Given the description of an element on the screen output the (x, y) to click on. 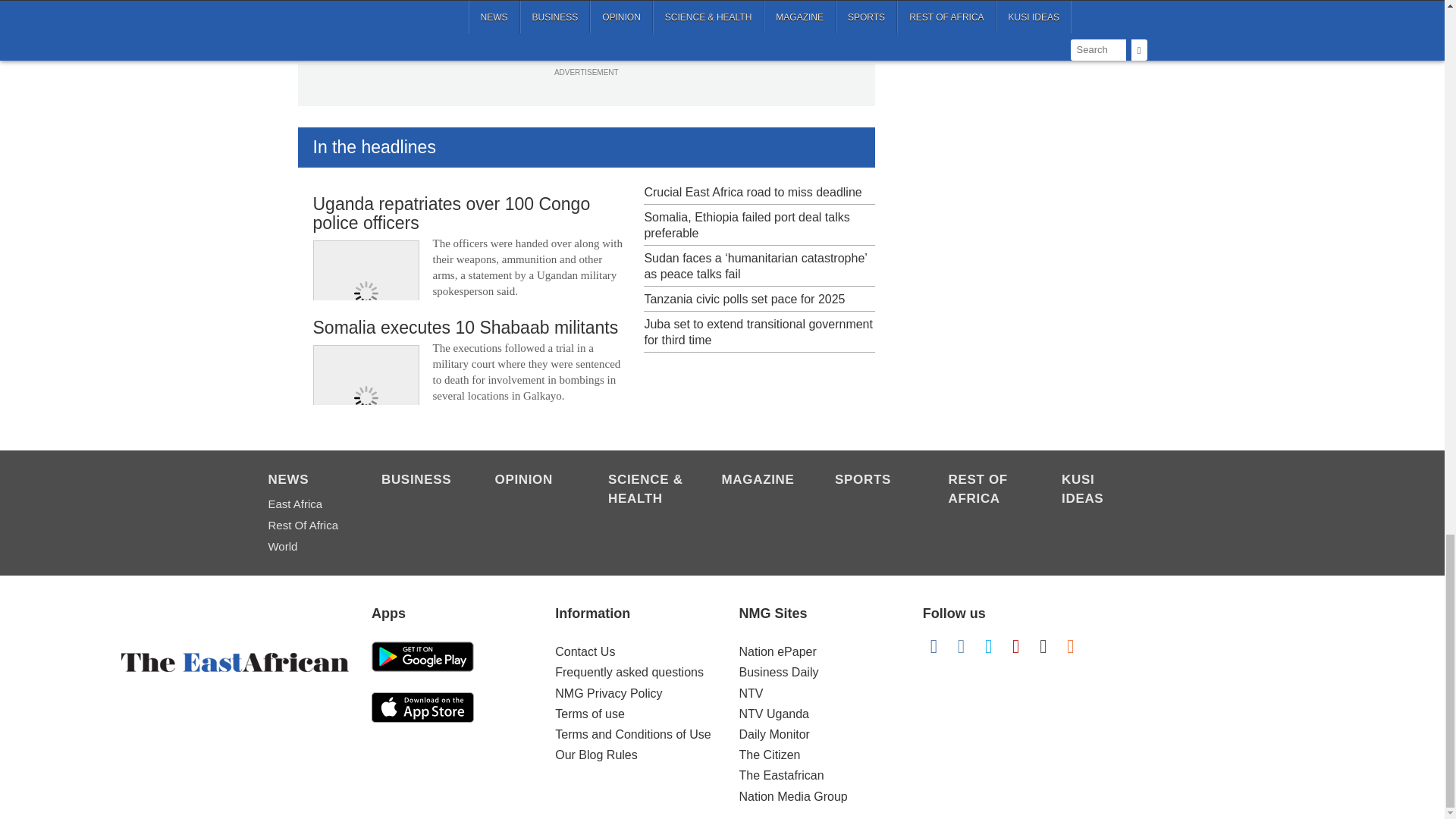
Magazine (760, 480)
News (306, 480)
Opinion (533, 480)
Sports (873, 480)
World (306, 546)
East Africa (306, 504)
Contact Us (584, 651)
Business (419, 480)
NMG Privacy Policy (608, 693)
Frequently asked questions (628, 671)
